Given the description of an element on the screen output the (x, y) to click on. 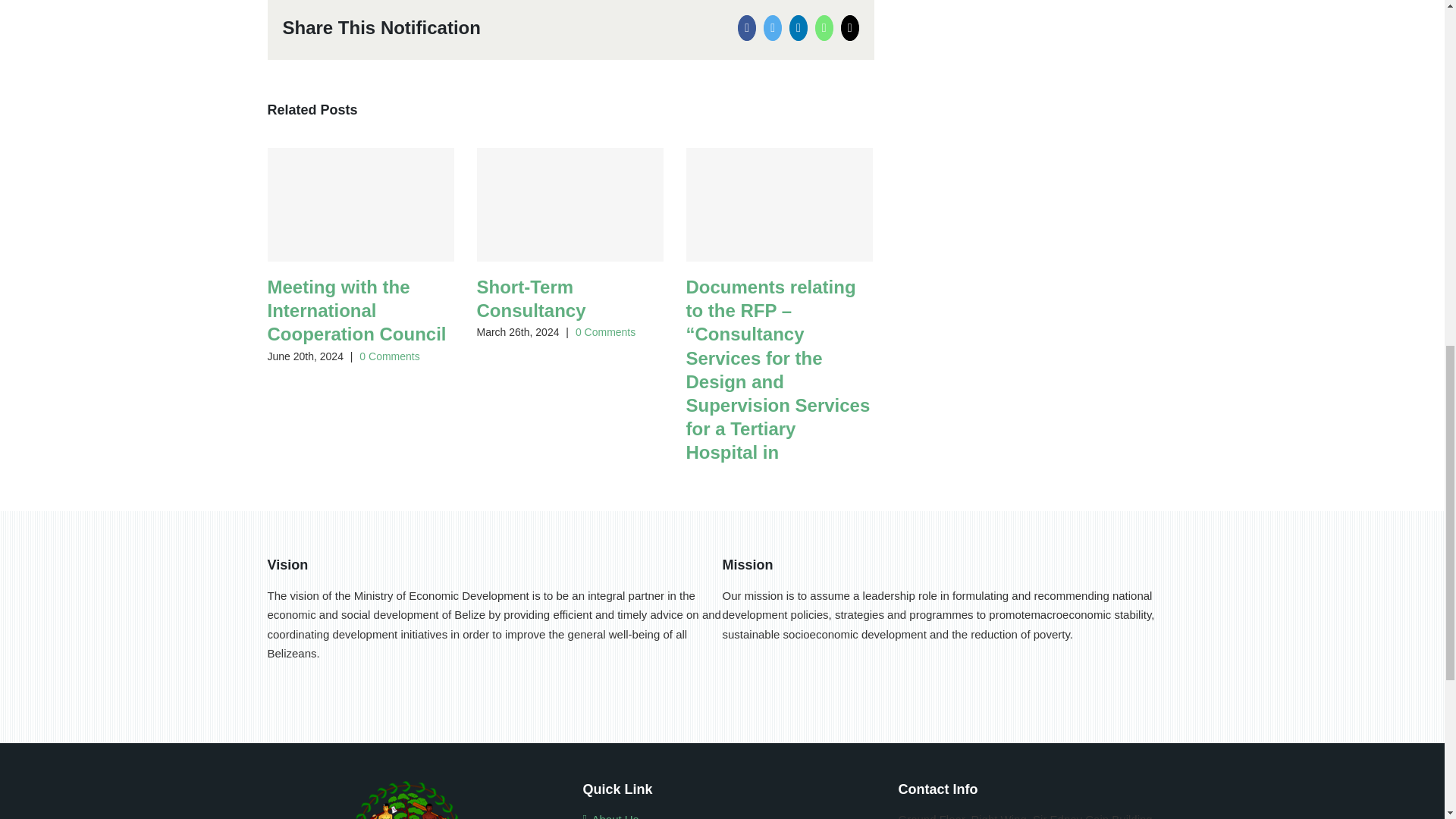
Short-Term Consultancy (530, 298)
Meeting with the International Cooperation Council (355, 309)
